Given the description of an element on the screen output the (x, y) to click on. 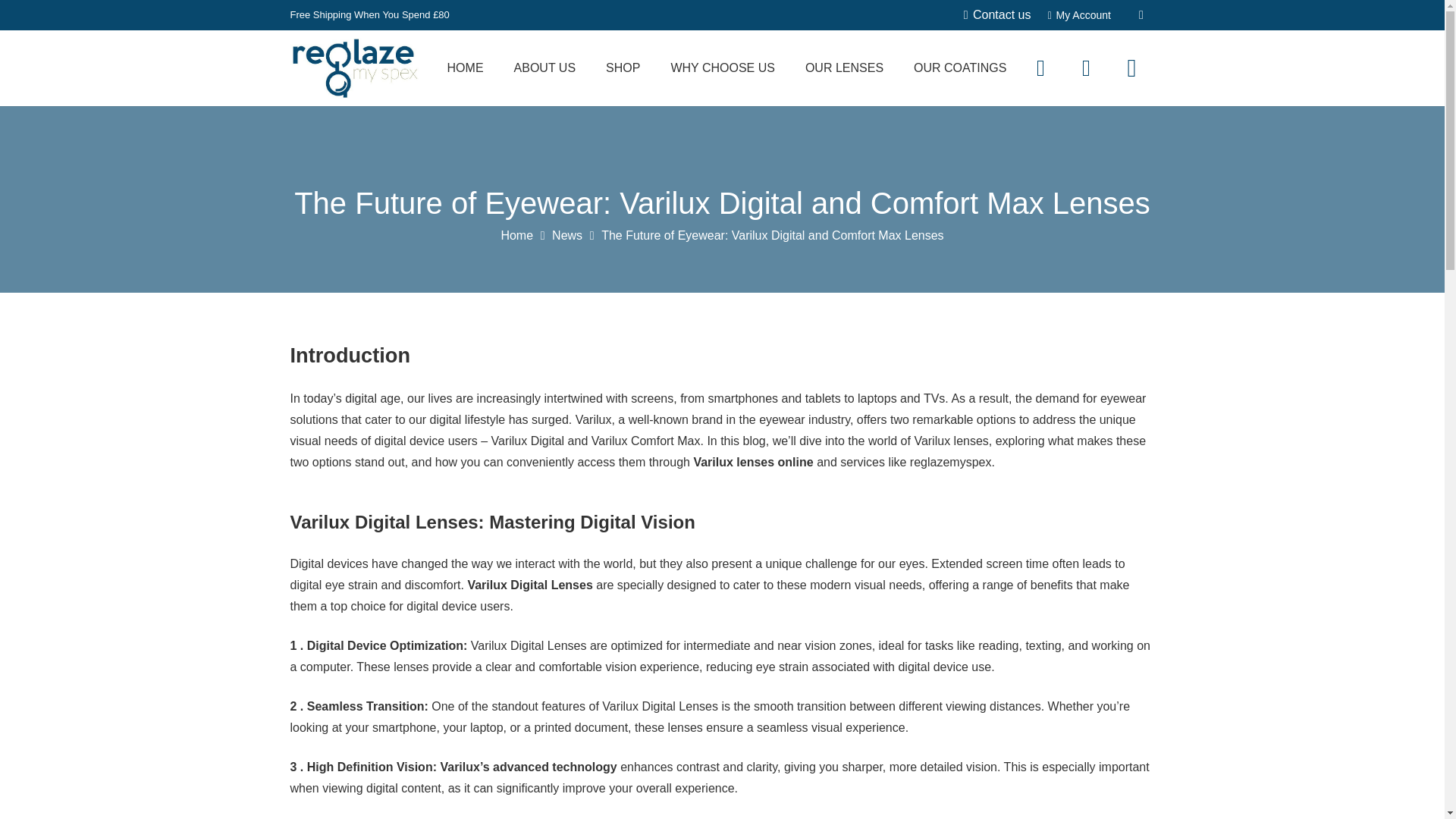
Twitter (1085, 67)
Home (516, 235)
WHY CHOOSE US (722, 68)
ABOUT US (545, 68)
Contact us (996, 14)
Instagram (1131, 67)
OUR LENSES (844, 68)
Facebook (1039, 67)
OUR COATINGS (960, 68)
